Given the description of an element on the screen output the (x, y) to click on. 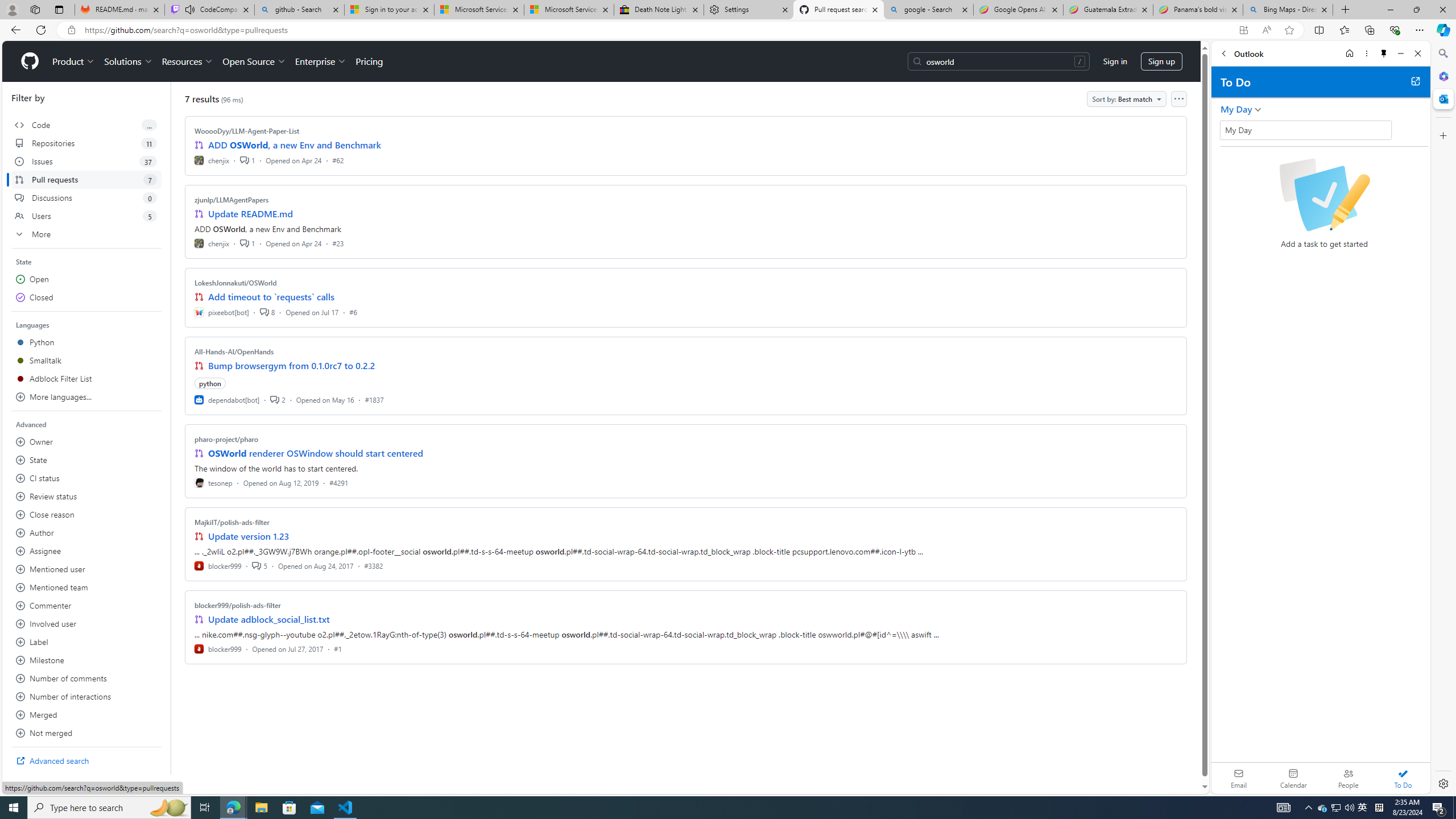
Address and search bar (658, 29)
Draggable pane splitter (169, 427)
#62 (337, 159)
Add a task (1228, 133)
More options (1366, 53)
Sort by: Best match (1126, 98)
Calendar. Date today is 22 (1293, 777)
Side bar (1443, 418)
More (86, 234)
